Given the description of an element on the screen output the (x, y) to click on. 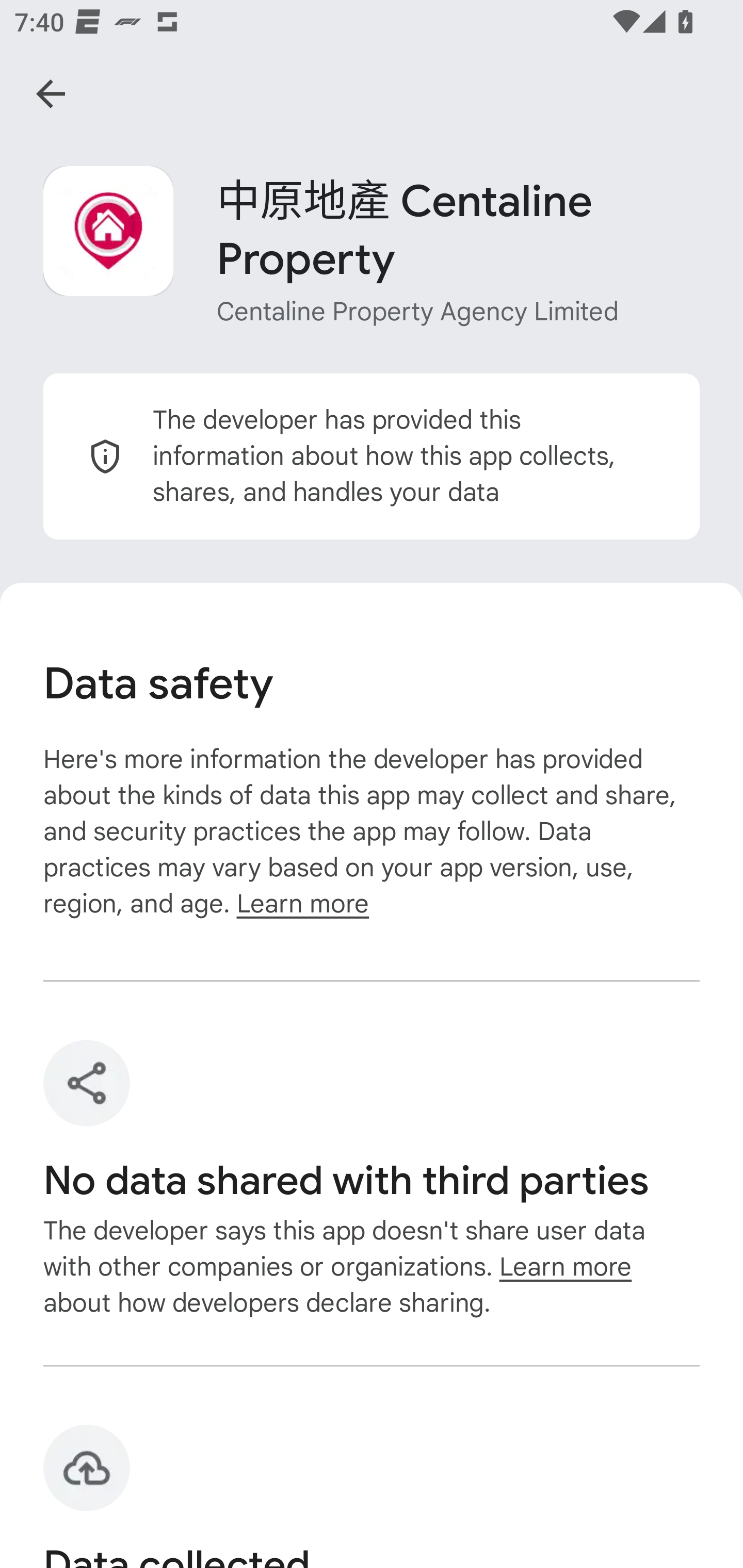
Navigate up (50, 93)
